Given the description of an element on the screen output the (x, y) to click on. 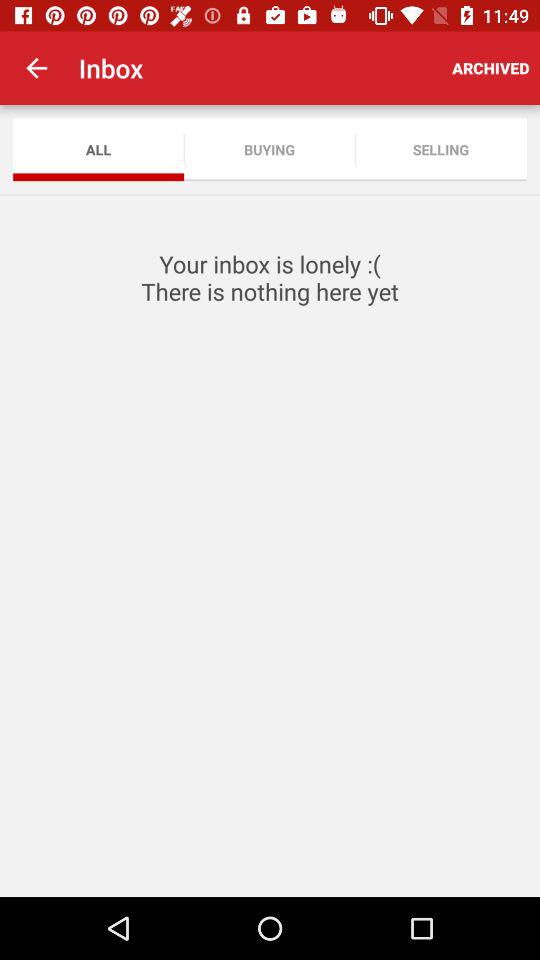
tap icon below the archived (440, 149)
